Given the description of an element on the screen output the (x, y) to click on. 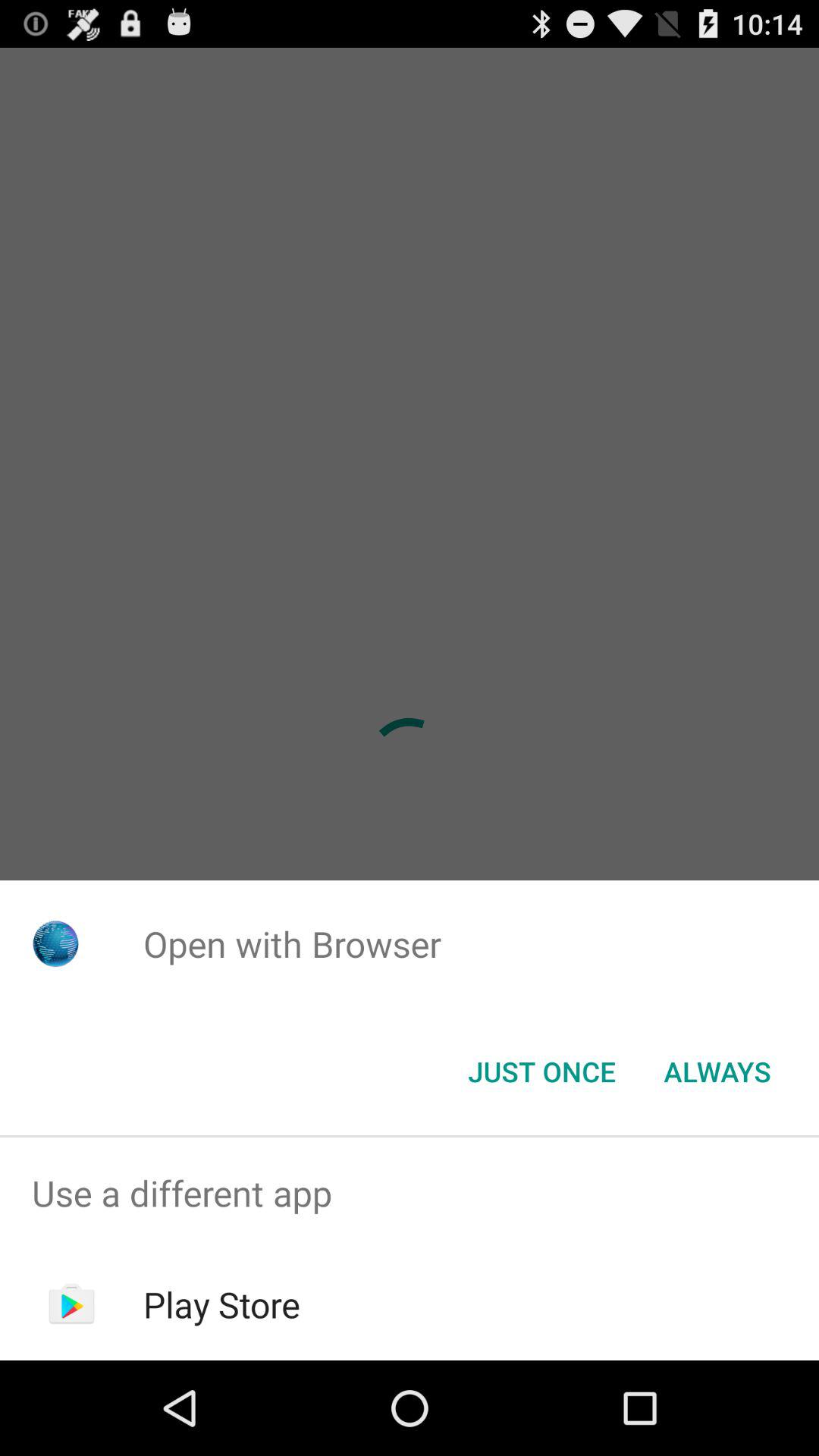
tap the item next to always (541, 1071)
